Given the description of an element on the screen output the (x, y) to click on. 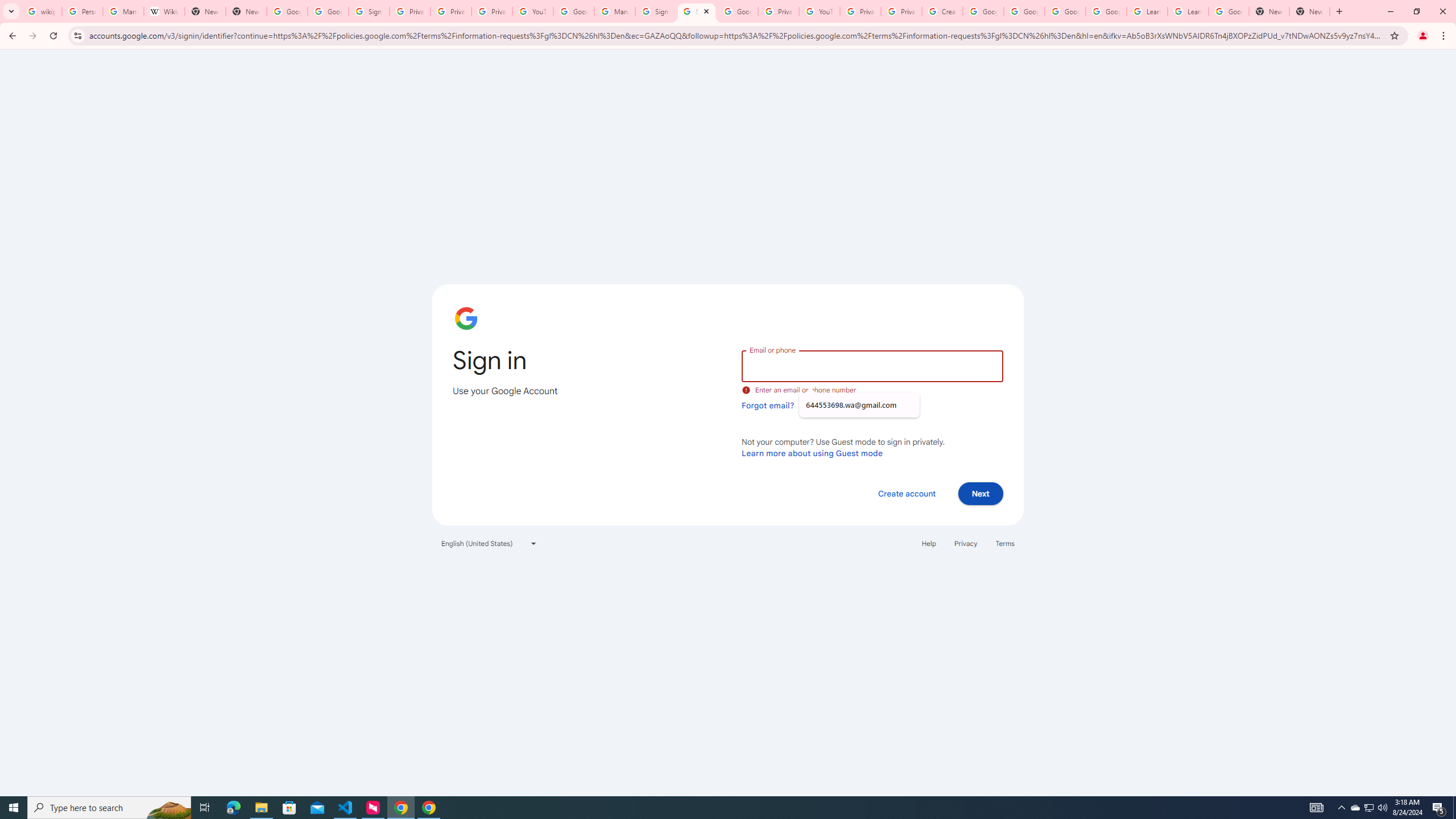
YouTube (532, 11)
Terms (1005, 542)
Learn more about using Guest mode (812, 452)
Google Drive: Sign-in (327, 11)
Create account (905, 493)
